Given the description of an element on the screen output the (x, y) to click on. 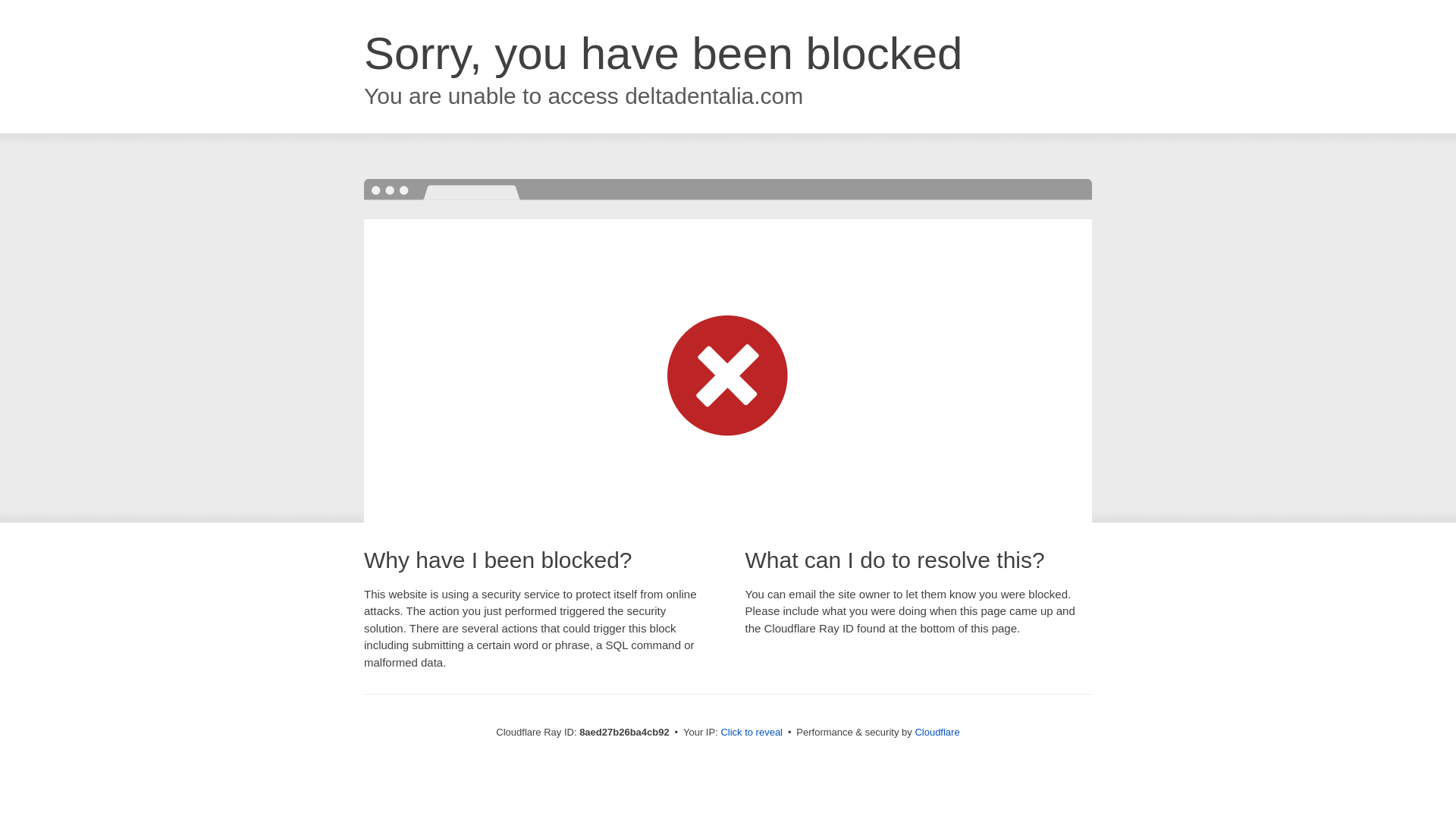
Click to reveal (751, 732)
Cloudflare (936, 731)
